Given the description of an element on the screen output the (x, y) to click on. 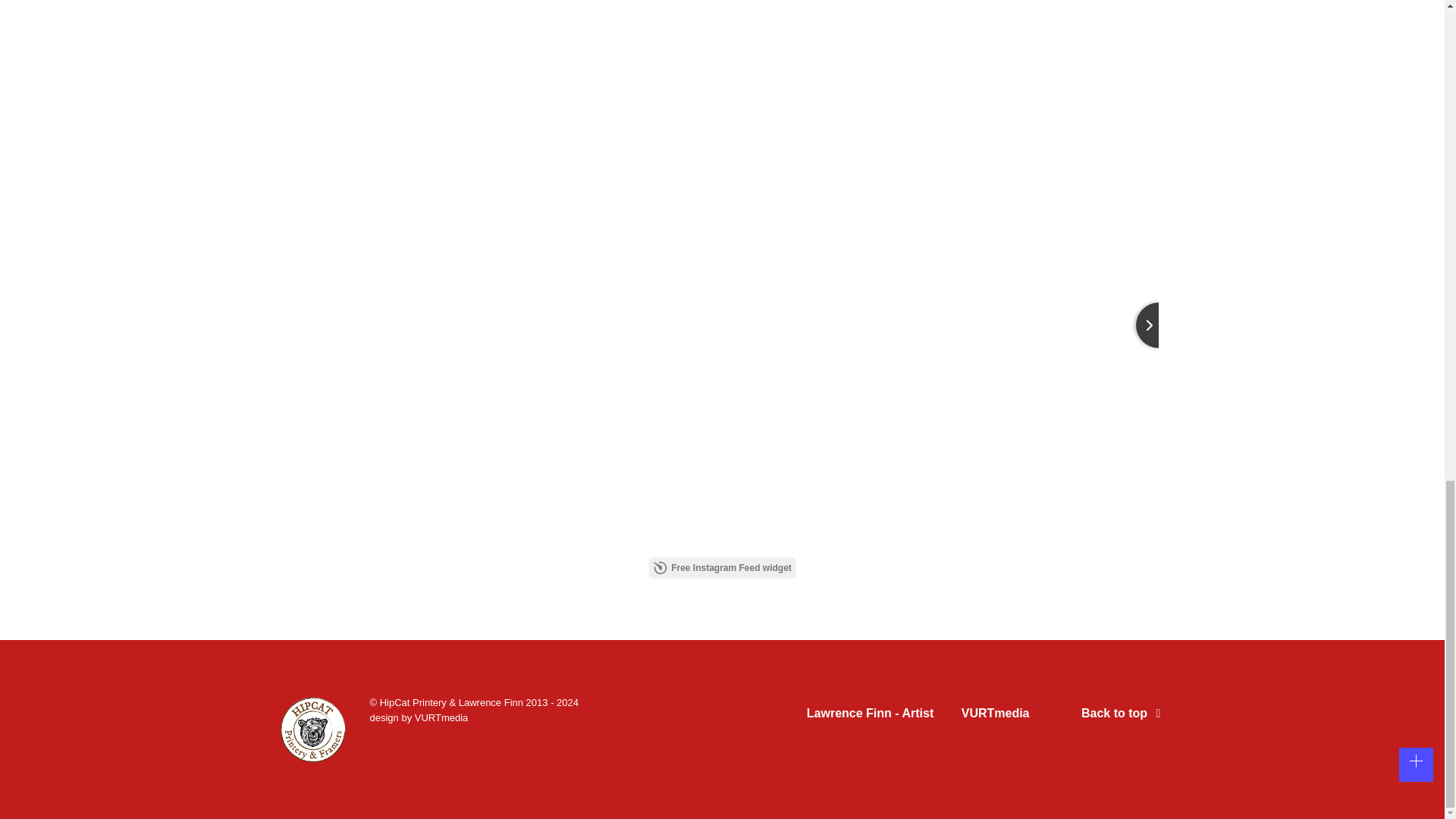
Back to top (1123, 712)
READ MORE... (365, 40)
Lawrence Finn - Artist (869, 716)
Free Instagram Feed widget (721, 567)
VURTmedia (994, 716)
Back to top (1123, 712)
VURTmedia (994, 716)
Lawrence Finn - Artist (869, 716)
